Given the description of an element on the screen output the (x, y) to click on. 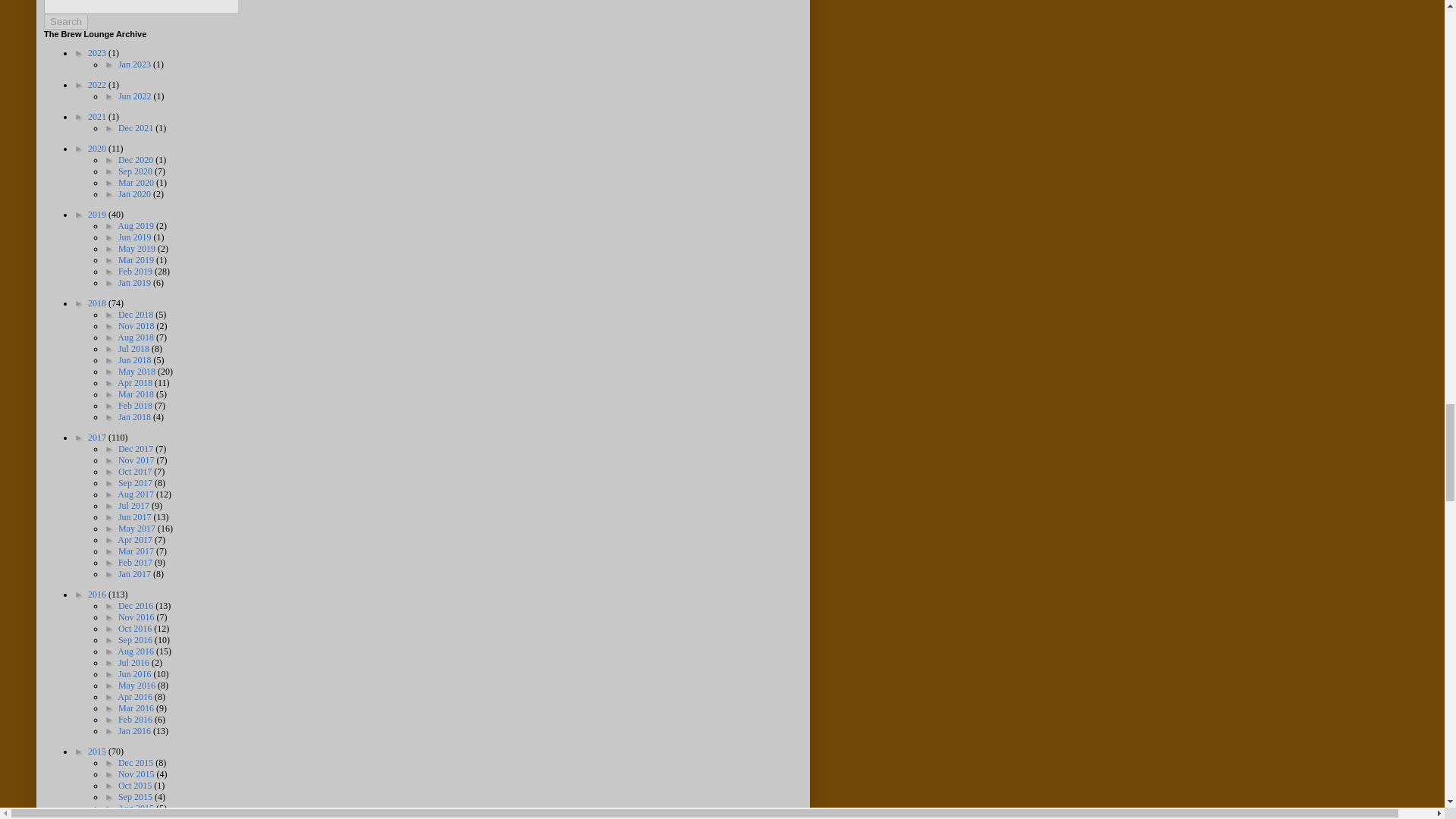
Search (65, 21)
